Given the description of an element on the screen output the (x, y) to click on. 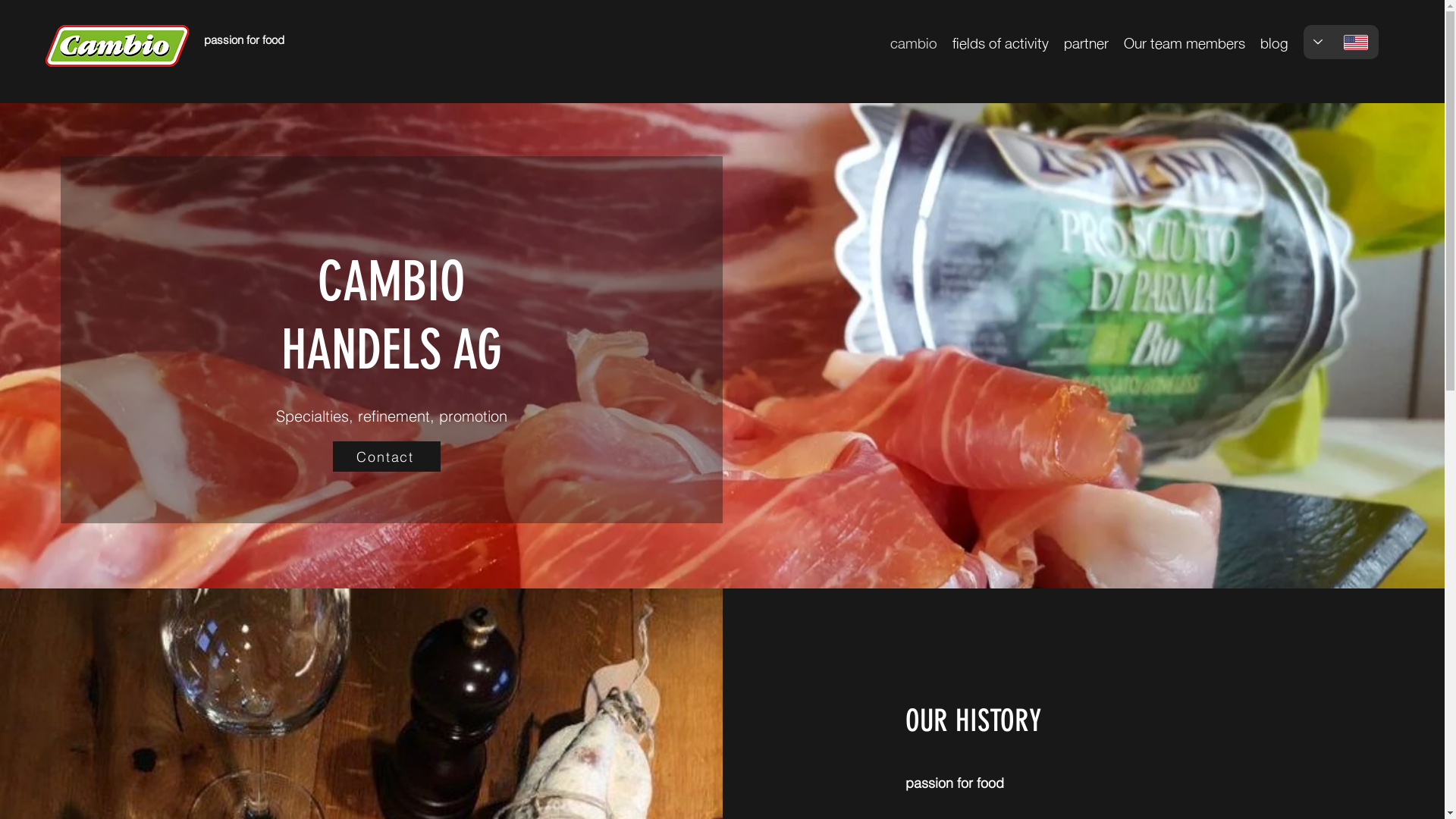
fields of activity Element type: text (1000, 39)
Contact Element type: text (386, 456)
blog Element type: text (1273, 39)
partner Element type: text (1086, 39)
Our team members Element type: text (1184, 39)
cambio Element type: text (913, 39)
